Given the description of an element on the screen output the (x, y) to click on. 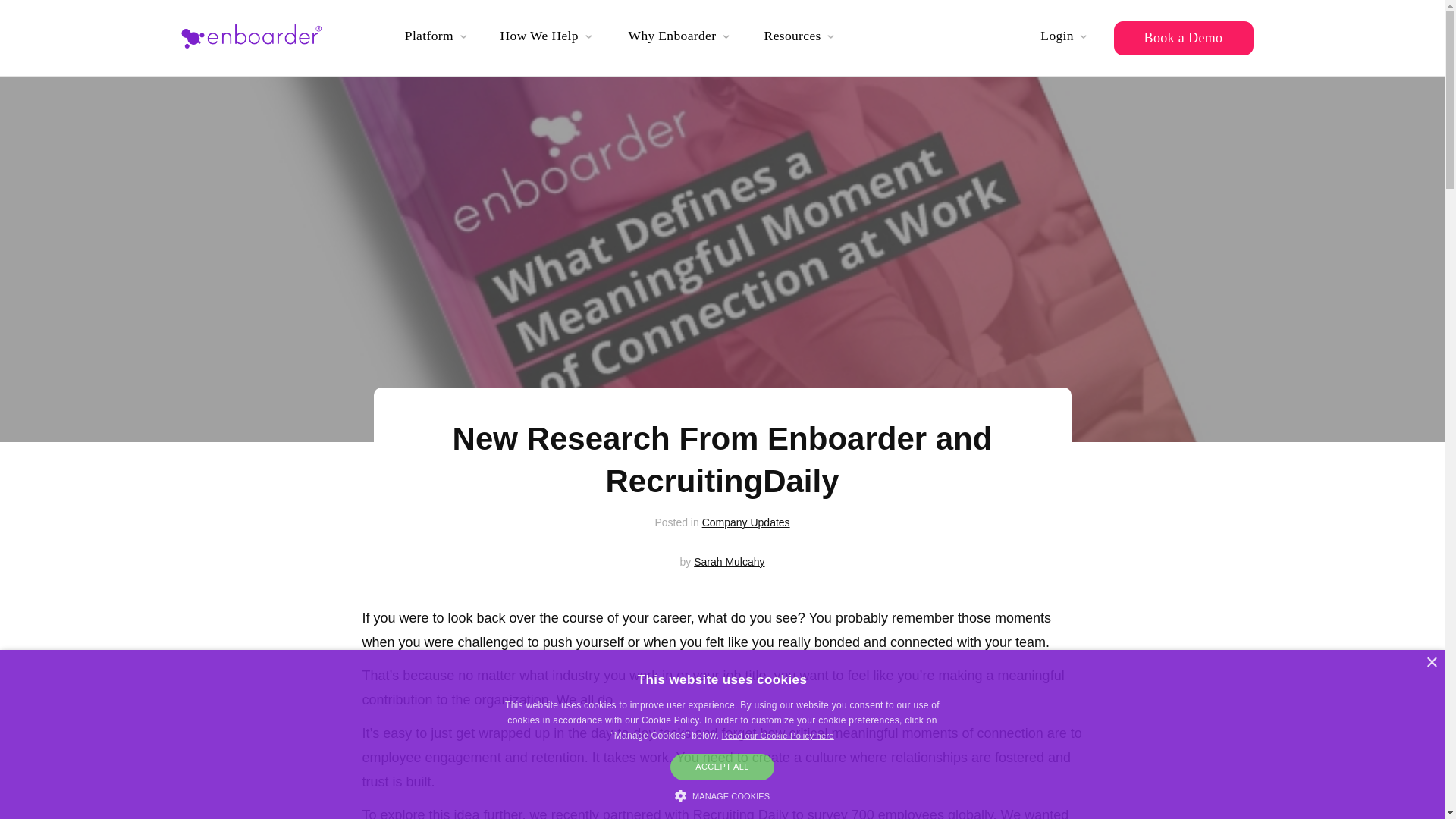
Platform (439, 40)
Why Enboarder (684, 40)
Enboarder (261, 37)
Company Updates (745, 522)
How We Help (551, 40)
Resources (804, 40)
Sarah Mulcahy (729, 562)
Book a Demo (1182, 38)
